Given the description of an element on the screen output the (x, y) to click on. 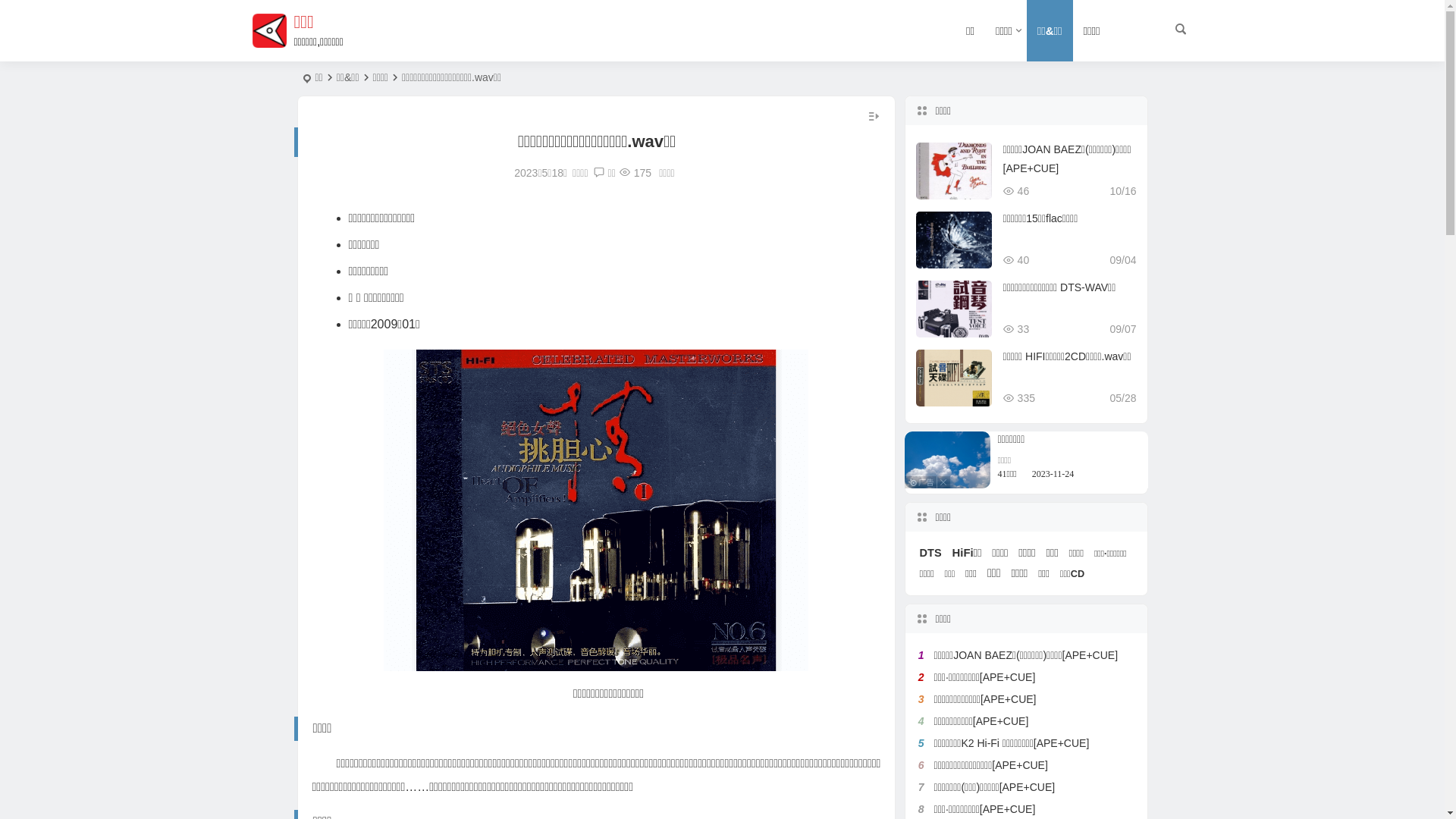
DTS Element type: text (930, 552)
